Given the description of an element on the screen output the (x, y) to click on. 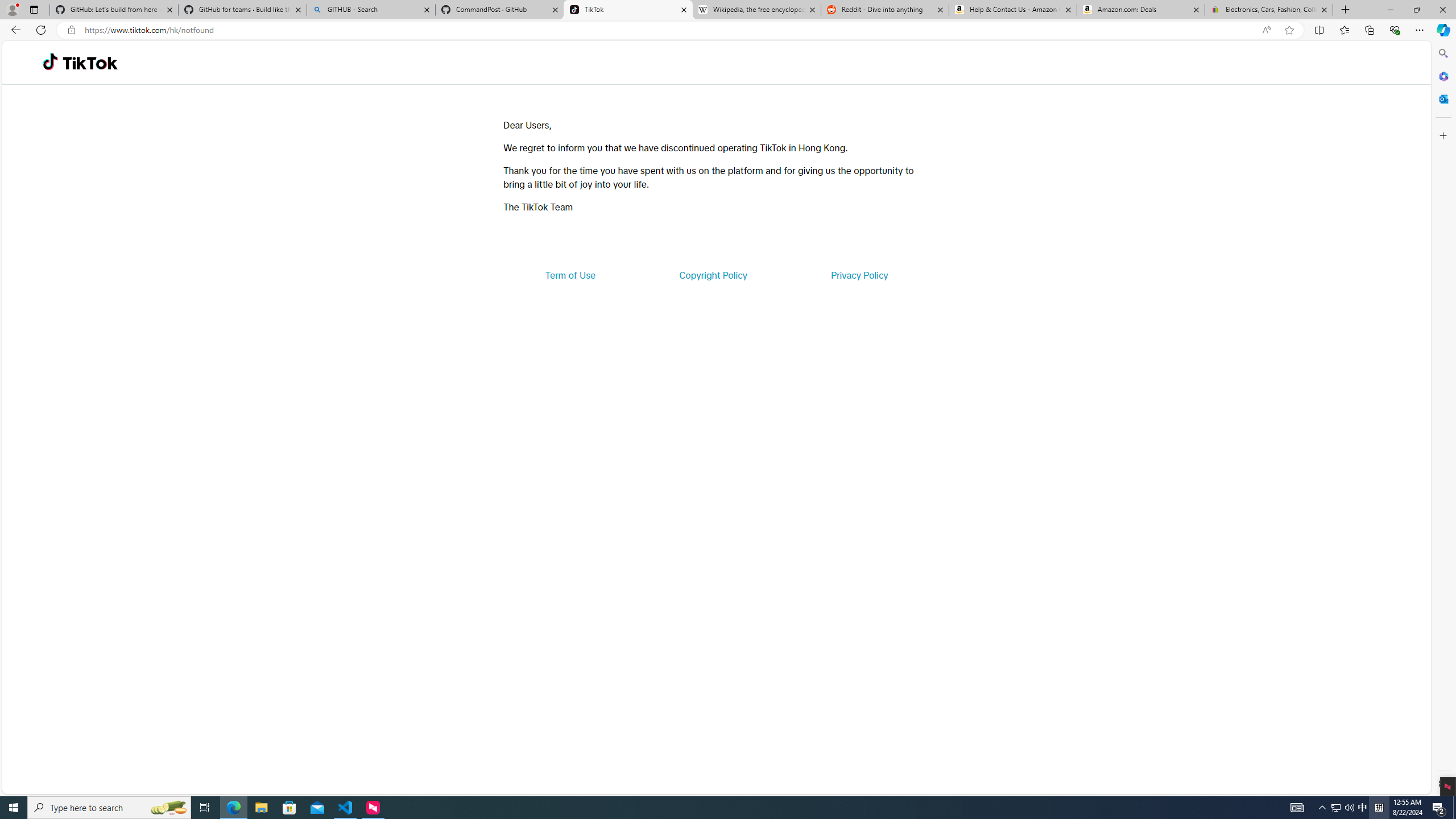
Wikipedia, the free encyclopedia (756, 9)
Amazon.com: Deals (1140, 9)
Term of Use (569, 274)
TikTok (89, 62)
Privacy Policy (858, 274)
Help & Contact Us - Amazon Customer Service (1012, 9)
